Given the description of an element on the screen output the (x, y) to click on. 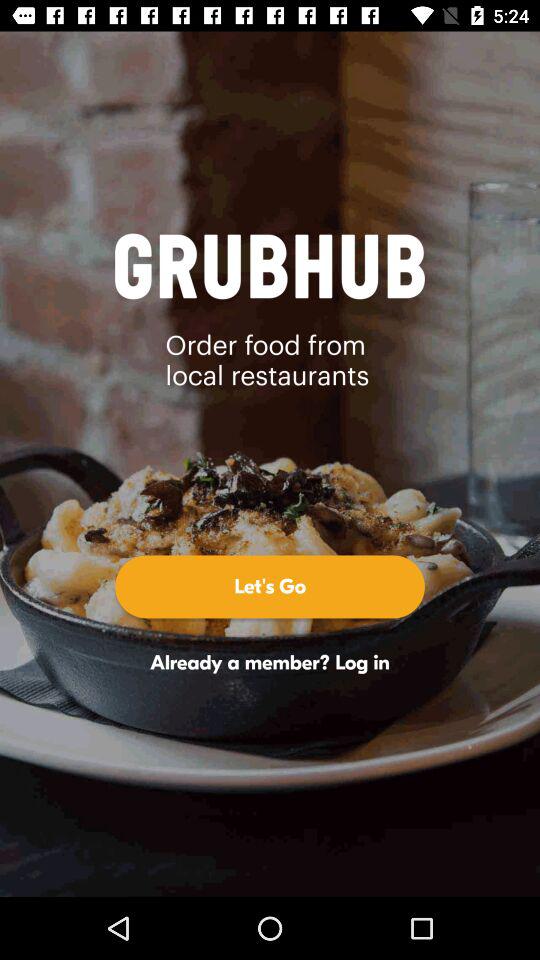
choose let's go icon (269, 586)
